Given the description of an element on the screen output the (x, y) to click on. 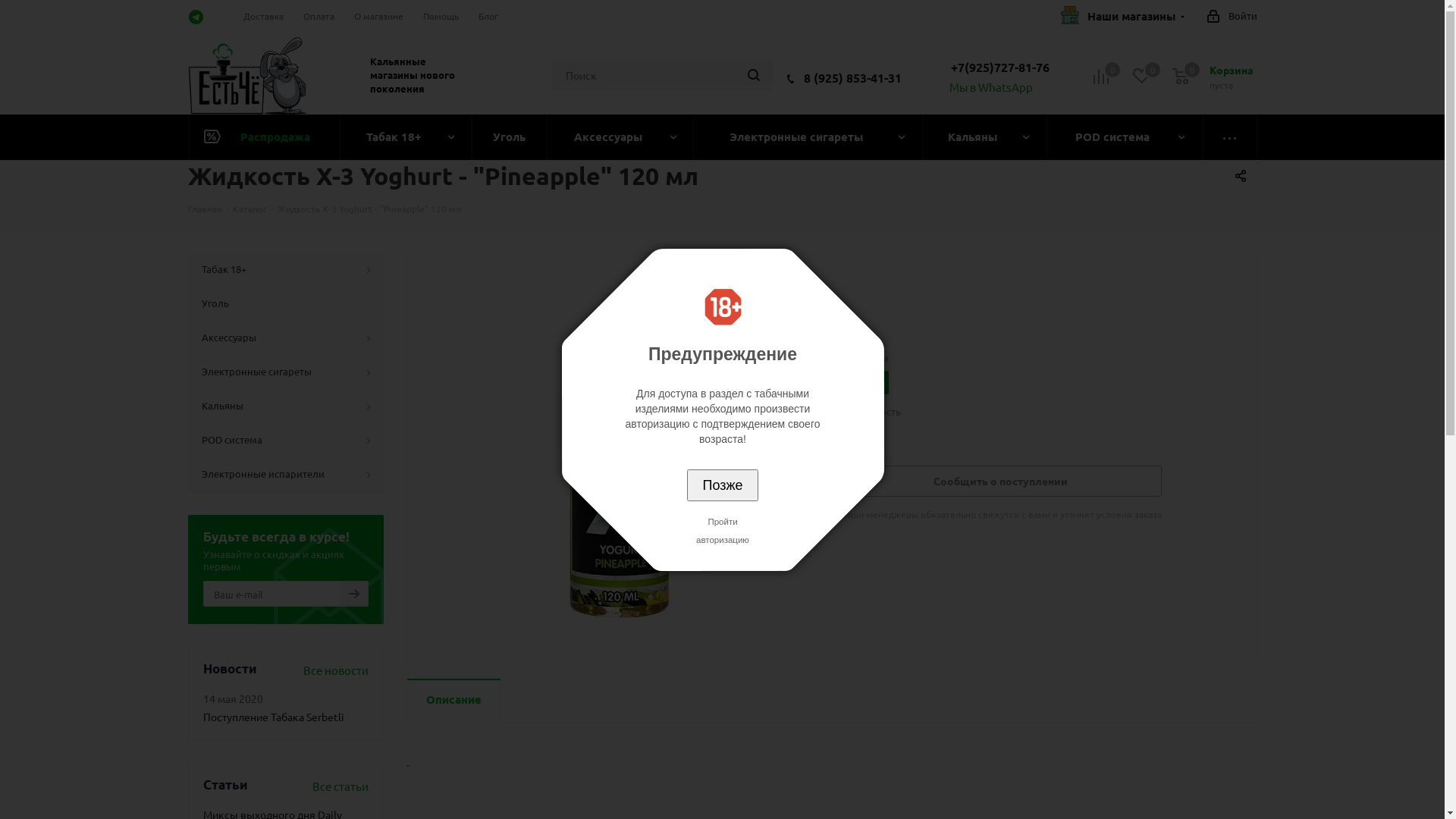
+7(925)727-81-76 Element type: text (999, 67)
8 (925) 853-41-31 Element type: text (852, 77)
